Given the description of an element on the screen output the (x, y) to click on. 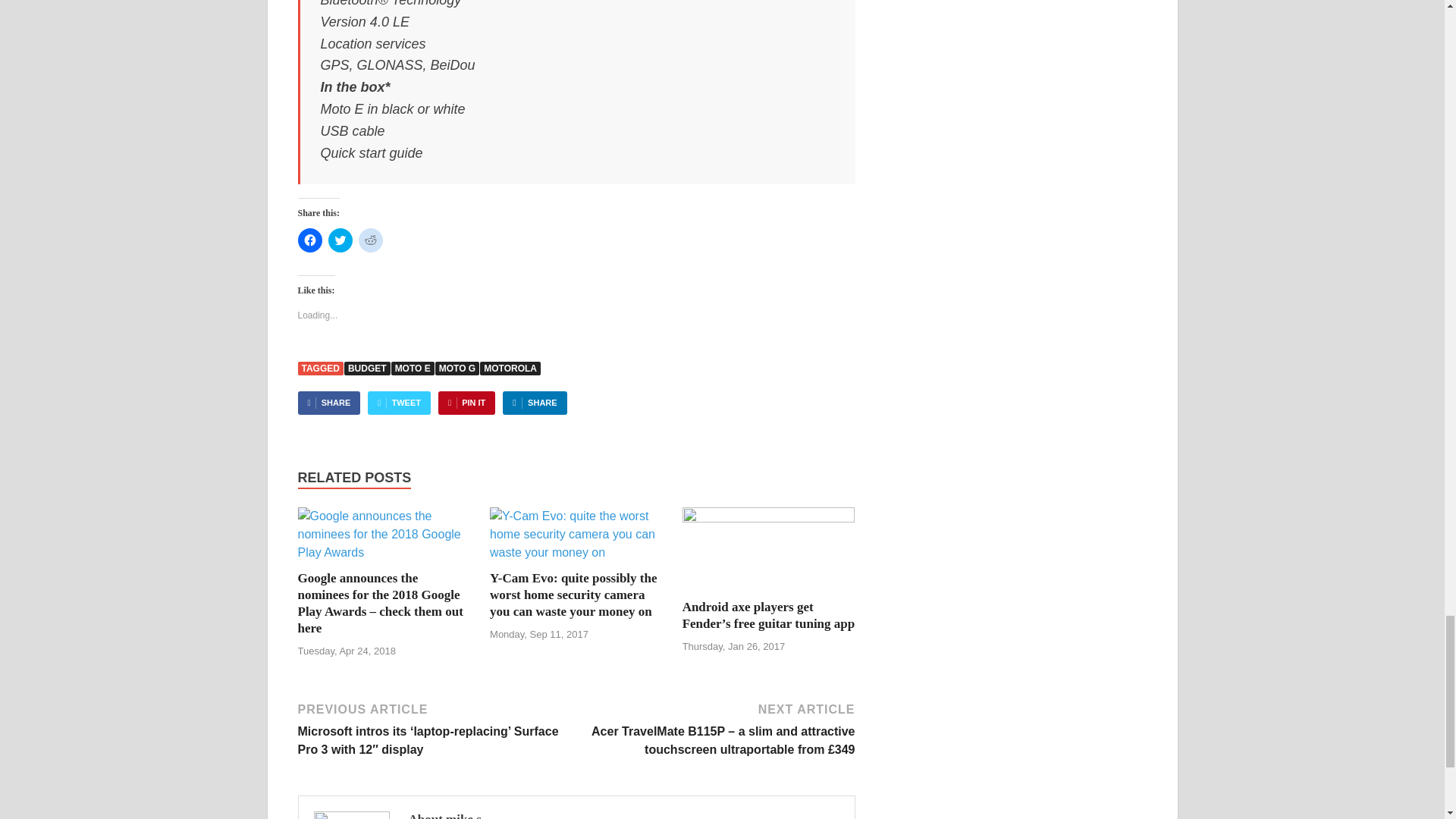
Click to share on Reddit (369, 240)
Click to share on Twitter (339, 240)
PIN IT (466, 402)
TWEET (399, 402)
SHARE (328, 402)
MOTO G (457, 368)
MOTO E (412, 368)
